Given the description of an element on the screen output the (x, y) to click on. 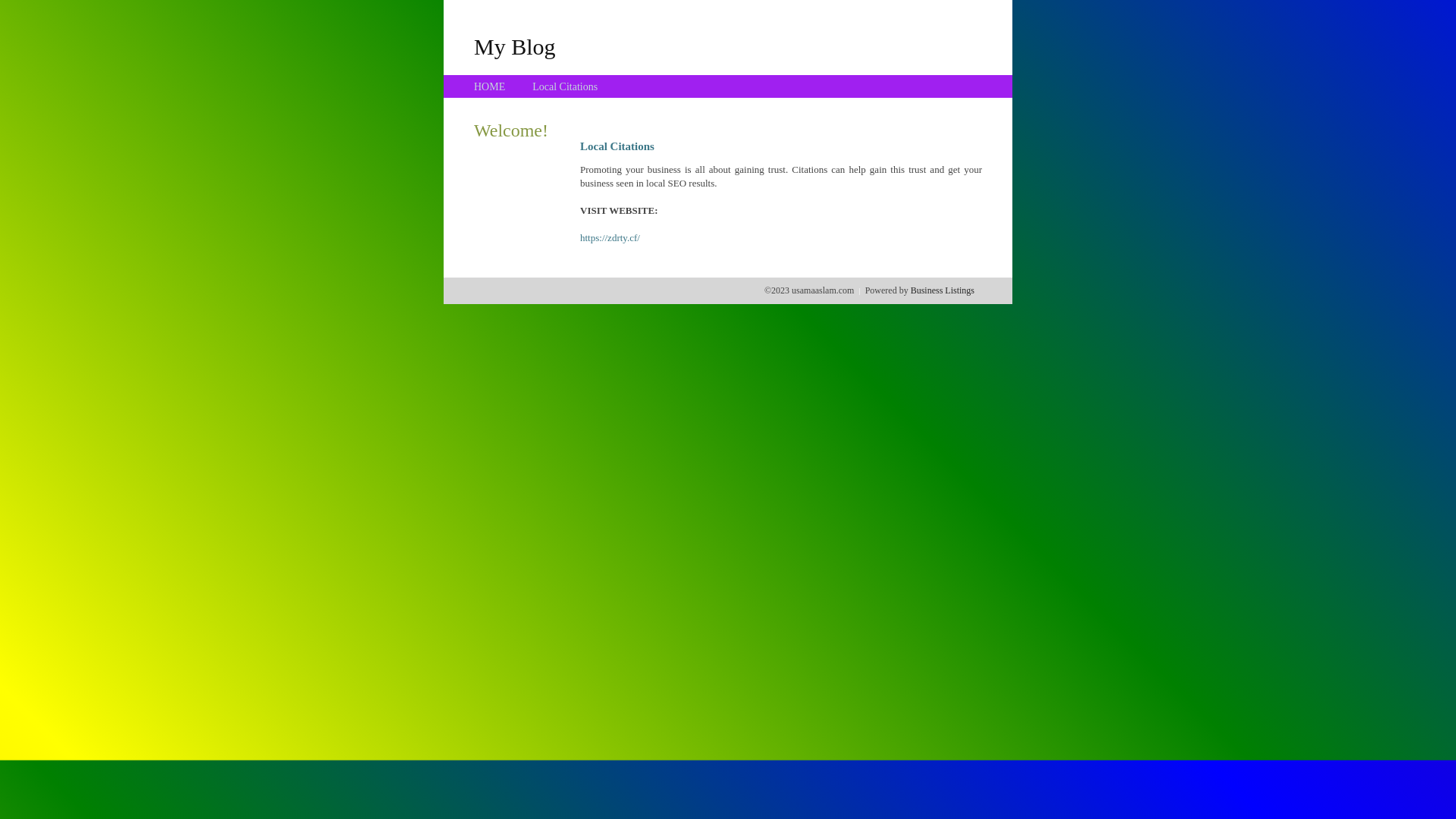
Local Citations Element type: text (564, 86)
https://zdrty.cf/ Element type: text (610, 237)
HOME Element type: text (489, 86)
Business Listings Element type: text (942, 290)
My Blog Element type: text (514, 46)
